Given the description of an element on the screen output the (x, y) to click on. 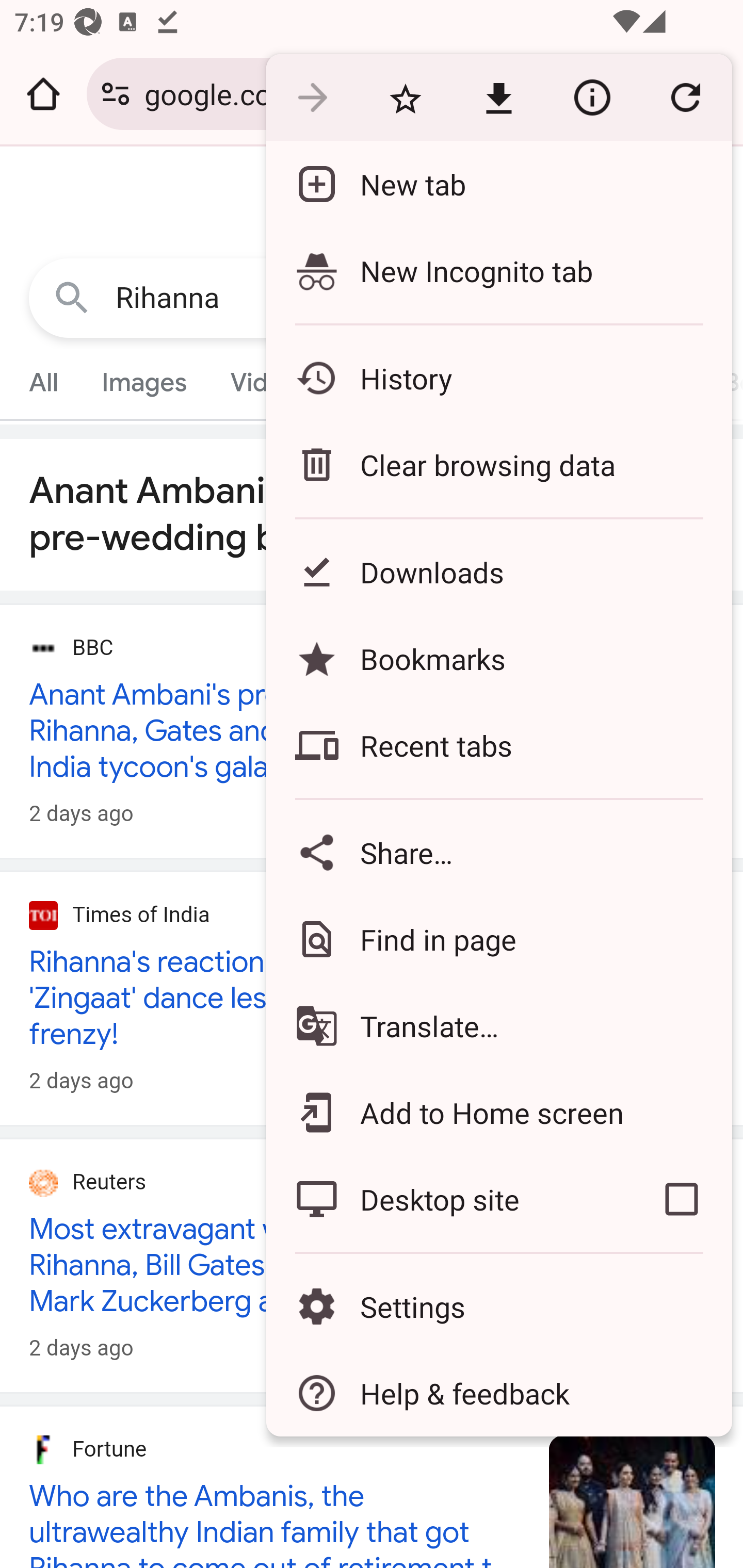
Forward (311, 97)
Bookmark (404, 97)
Download (498, 97)
Page info (591, 97)
Refresh (684, 97)
New tab (498, 184)
New Incognito tab (498, 270)
History (498, 377)
Clear browsing data (498, 464)
Downloads (498, 571)
Bookmarks (498, 658)
Recent tabs (498, 745)
Share… (498, 852)
Find in page (498, 939)
Translate… (498, 1026)
Add to Home screen (498, 1112)
Desktop site Turn on Request desktop site (447, 1198)
Settings (498, 1306)
Help & feedback (498, 1393)
